Given the description of an element on the screen output the (x, y) to click on. 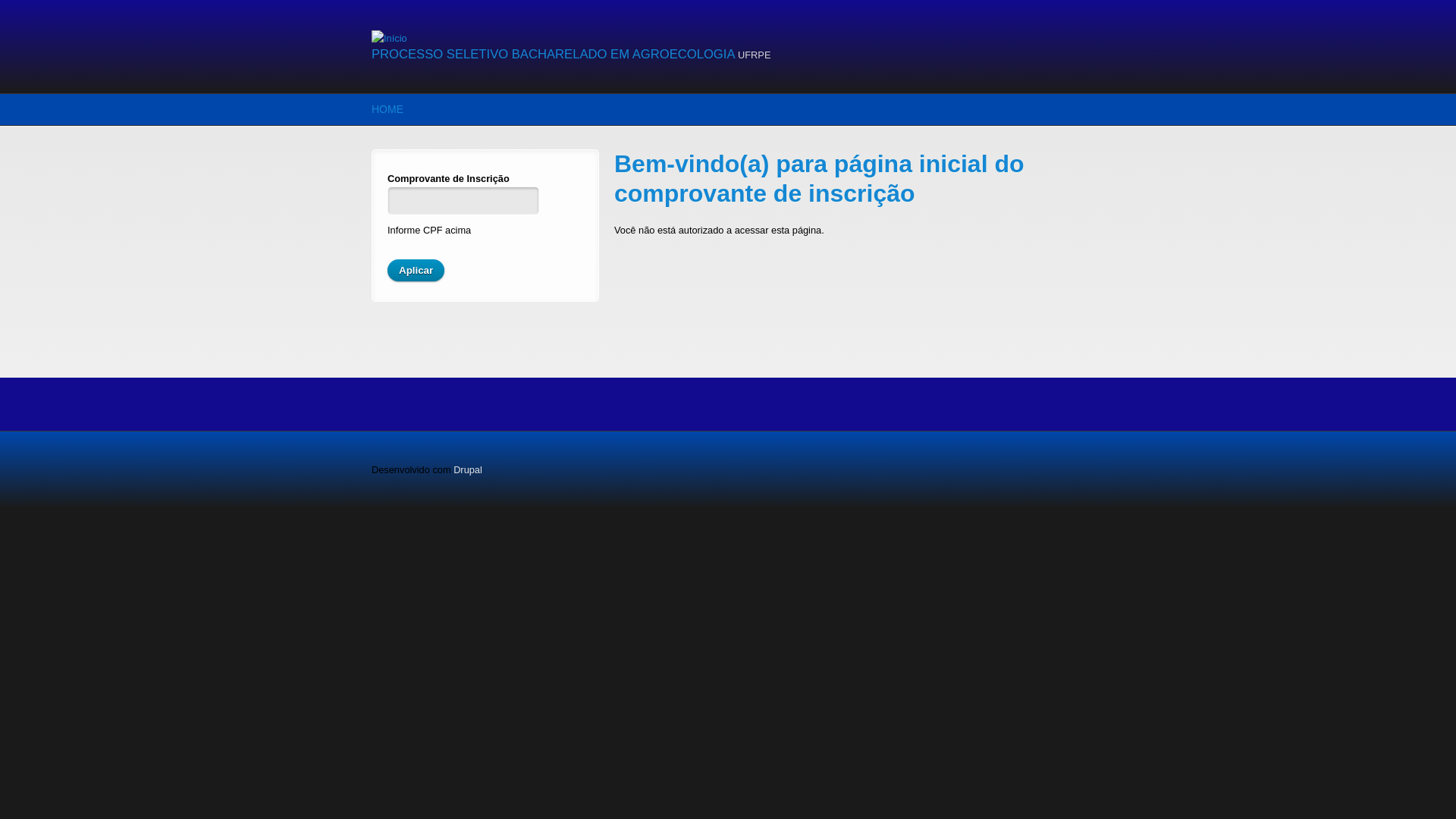
HOME Element type: text (387, 109)
PROCESSO SELETIVO BACHARELADO EM AGROECOLOGIA Element type: text (552, 54)
Drupal Element type: text (467, 469)
Aplicar Element type: text (415, 270)
